Given the description of an element on the screen output the (x, y) to click on. 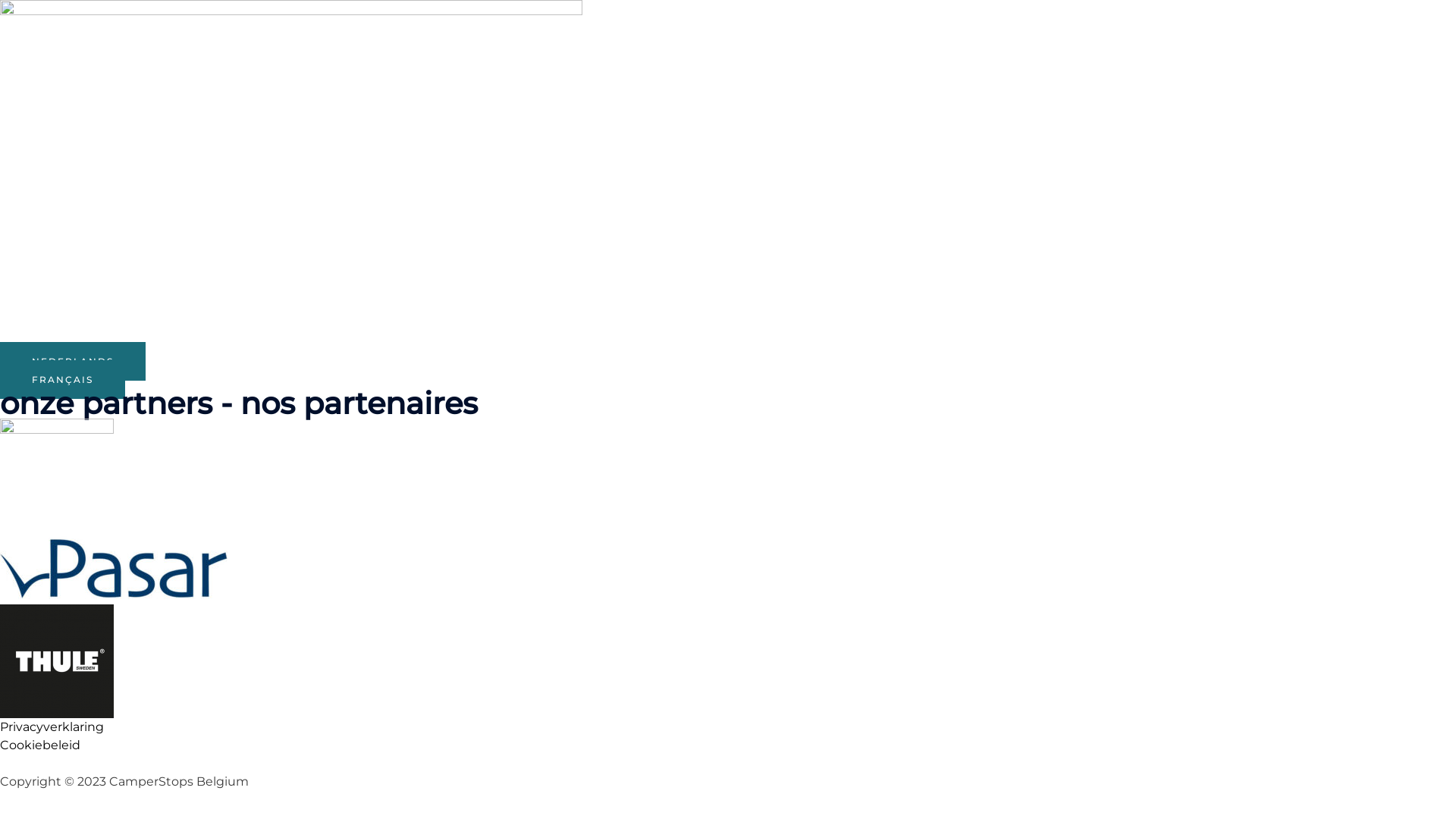
NEDERLANDS Element type: text (72, 361)
Cookiebeleid Element type: text (40, 744)
Privacyverklaring Element type: text (51, 726)
